Given the description of an element on the screen output the (x, y) to click on. 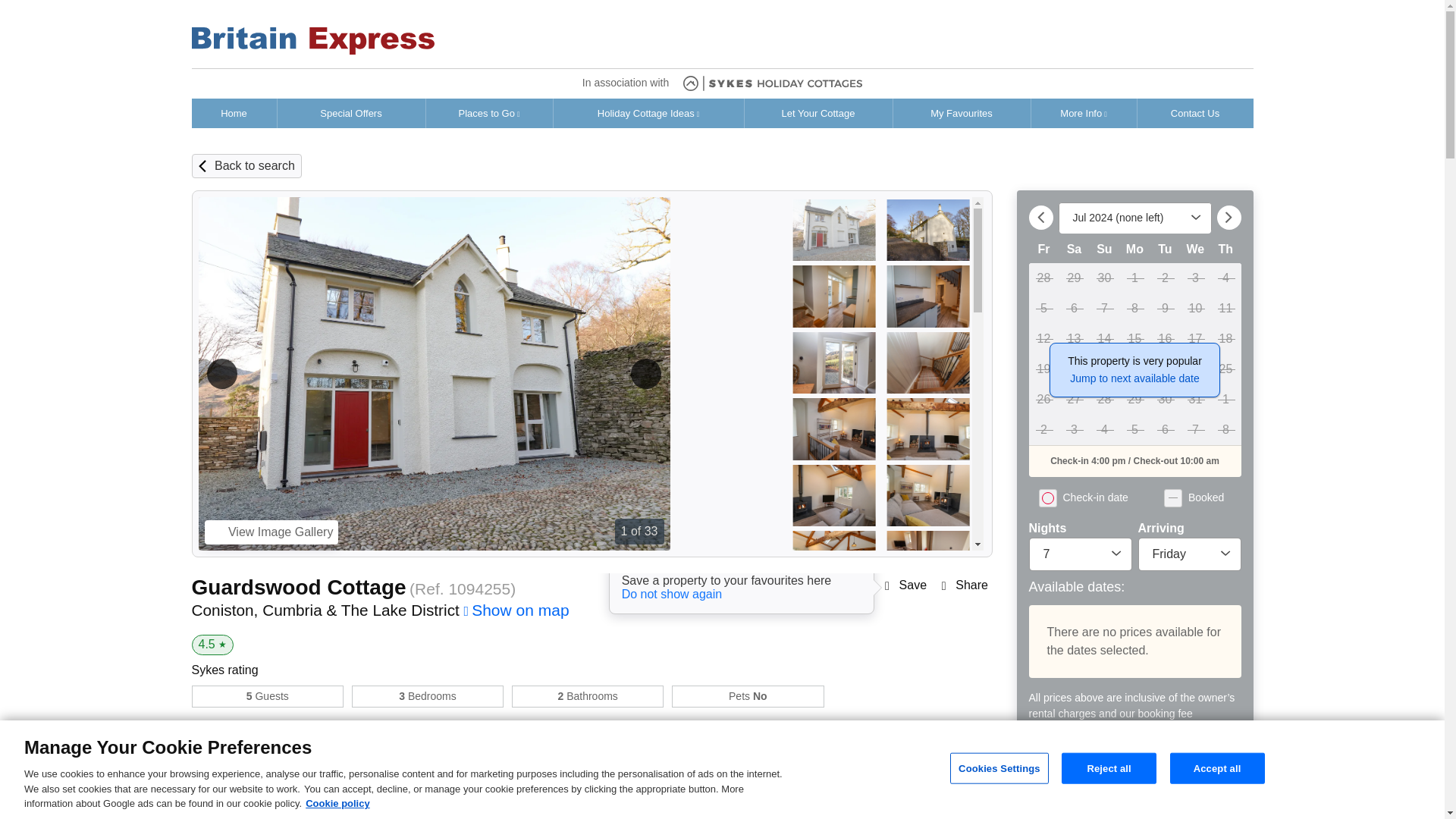
Save (912, 584)
Sykes Cottages (311, 40)
Home (233, 113)
Holiday Cottage Ideas (648, 113)
Special Offers (351, 113)
Return to search (254, 164)
Sykes Cottages (771, 83)
Places to Go (489, 113)
